Given the description of an element on the screen output the (x, y) to click on. 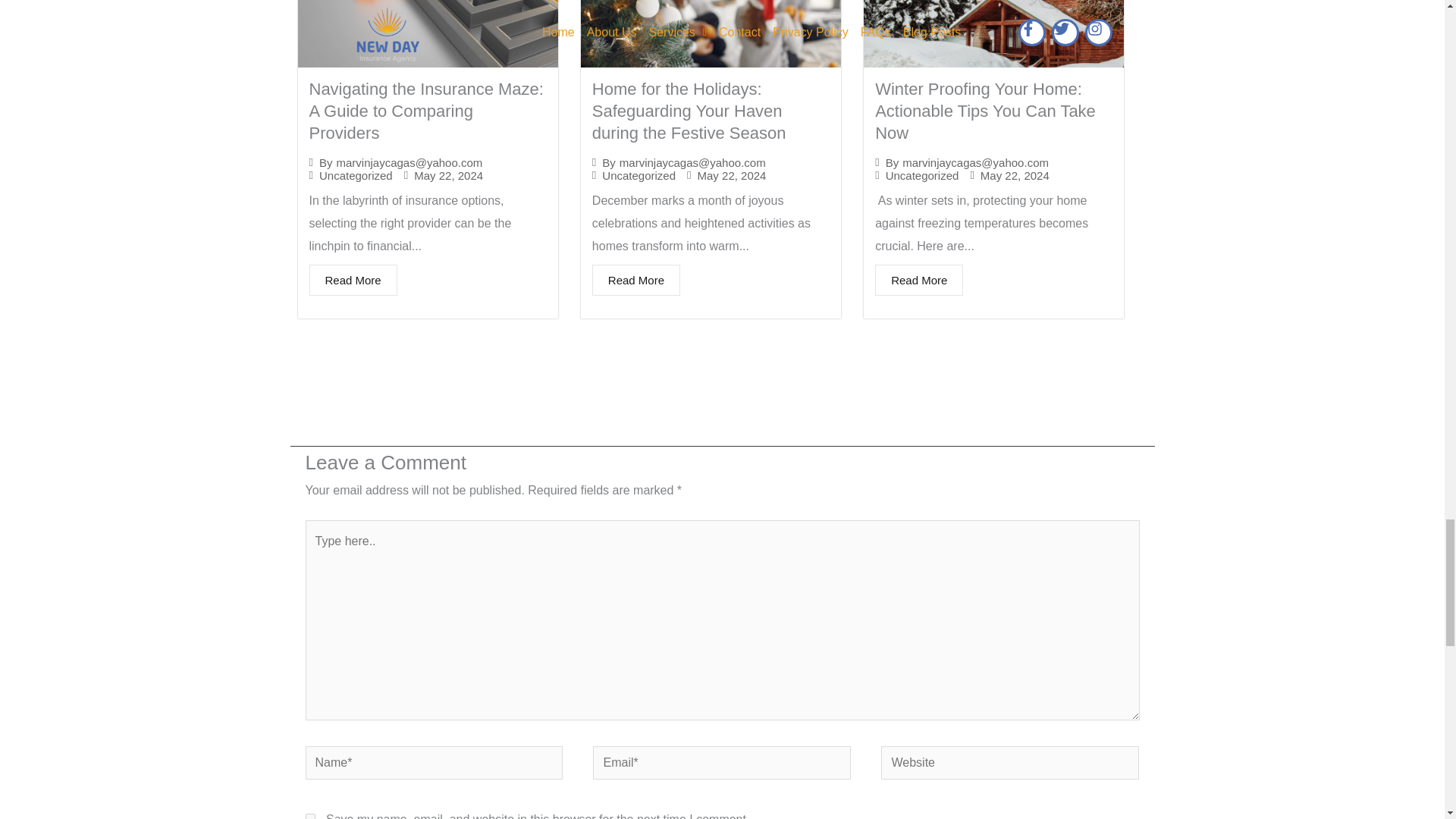
yes (309, 816)
